Given the description of an element on the screen output the (x, y) to click on. 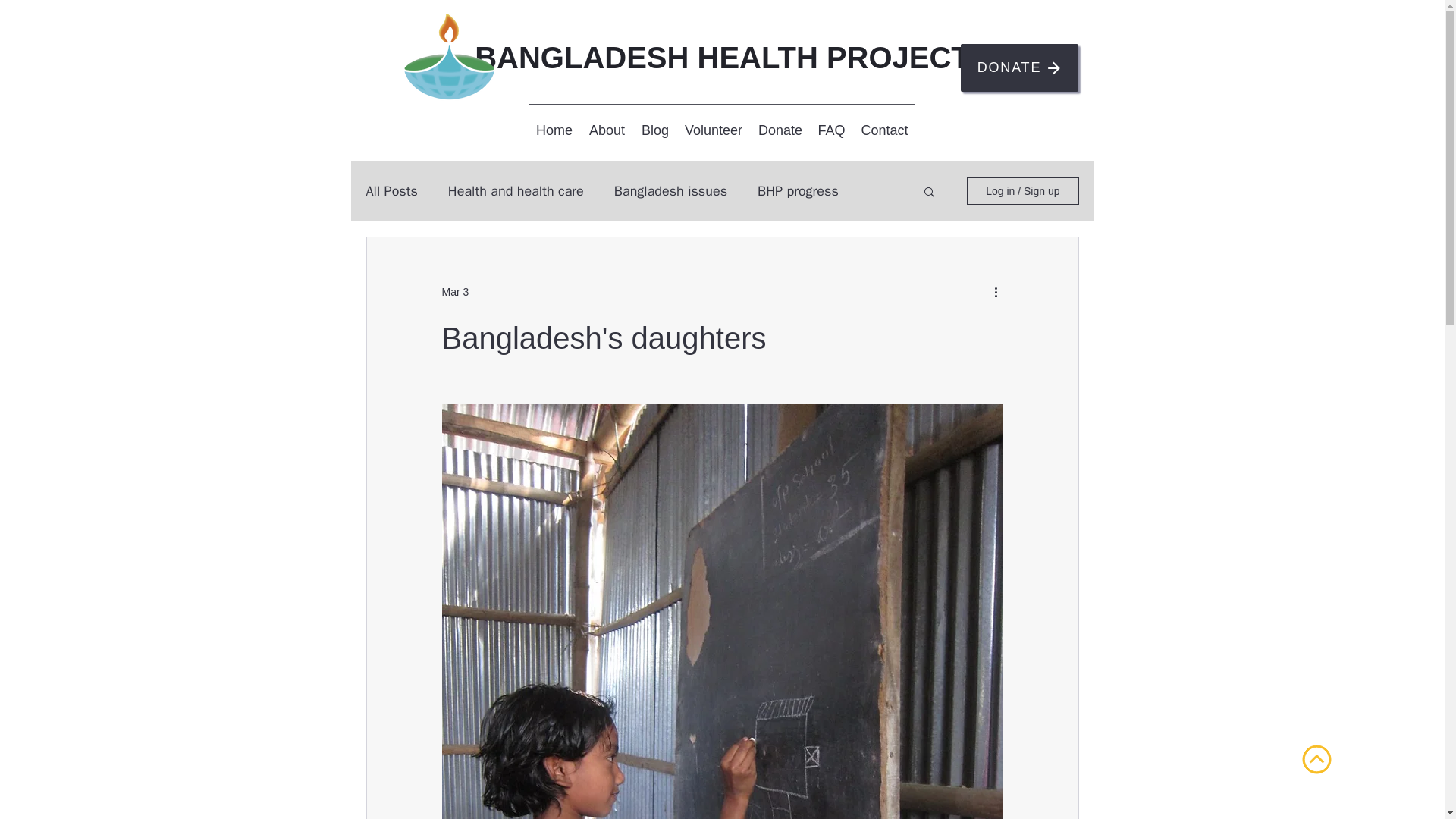
BHP progress (797, 190)
Blog (655, 129)
Donate (780, 129)
All Posts (390, 190)
About (606, 129)
Mar 3 (454, 291)
Home (553, 129)
Contact (883, 129)
Bangladesh issues (670, 190)
FAQ (830, 129)
